Given the description of an element on the screen output the (x, y) to click on. 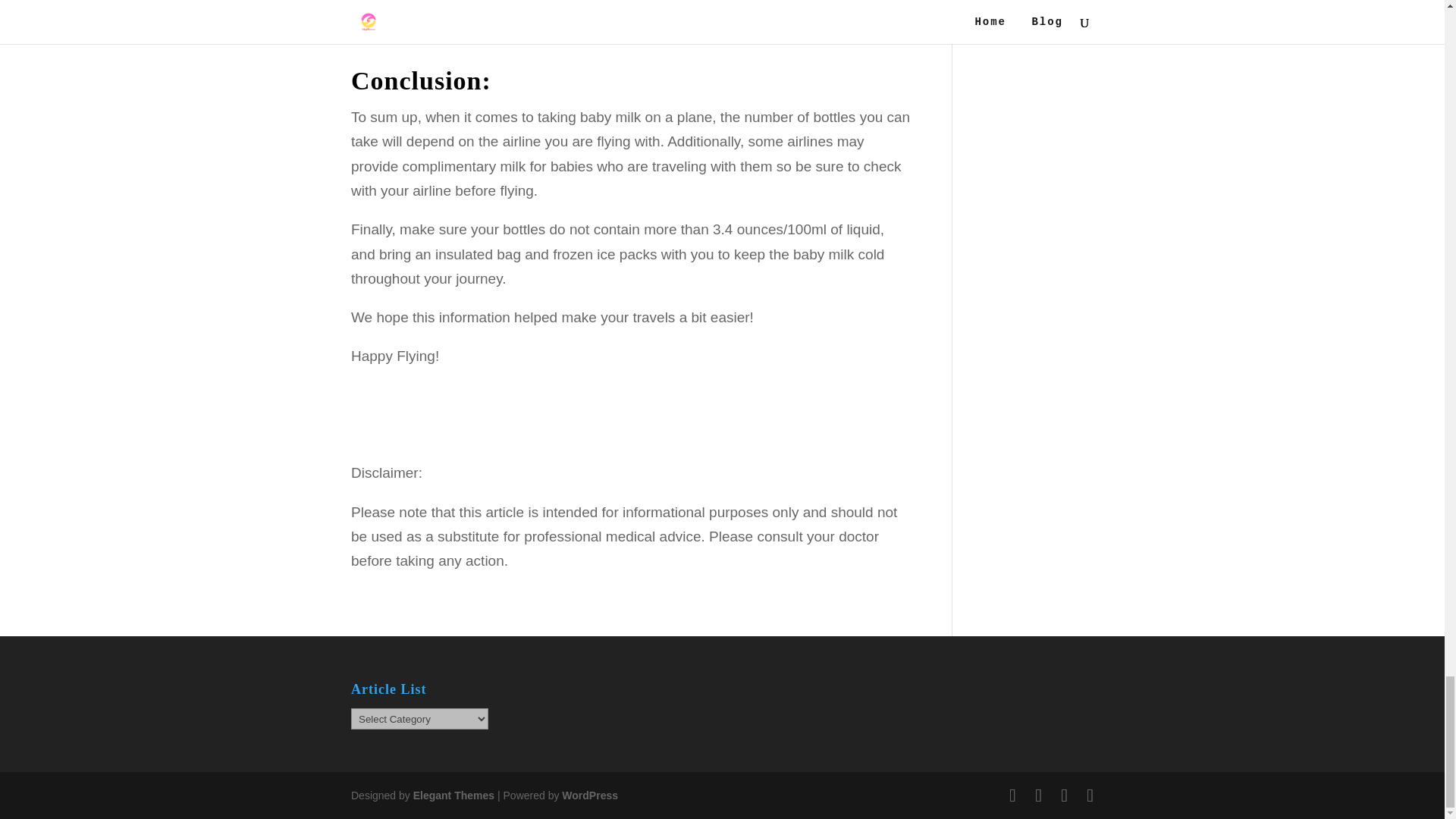
Elegant Themes (454, 795)
WordPress (589, 795)
Premium WordPress Themes (454, 795)
